Given the description of an element on the screen output the (x, y) to click on. 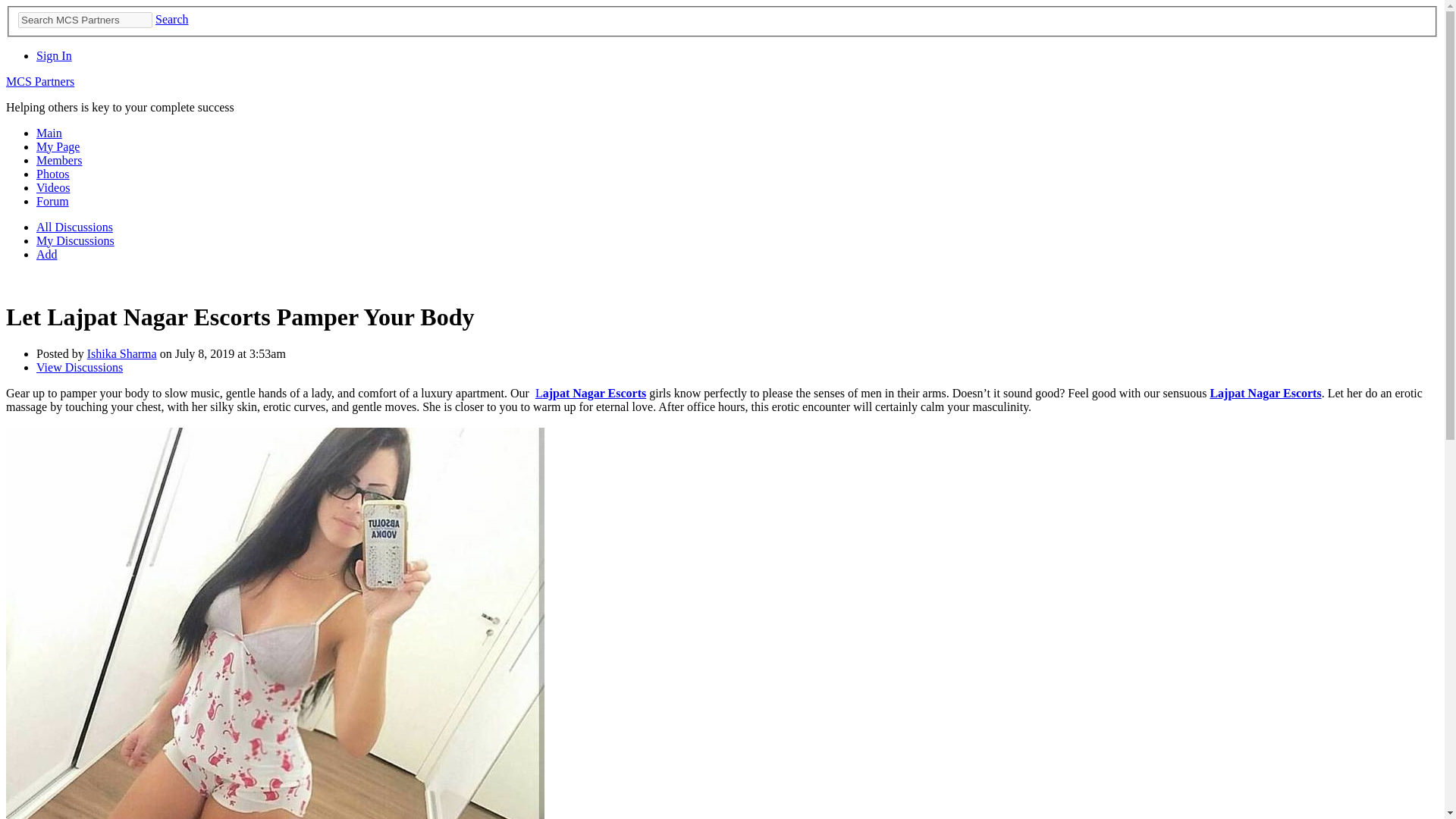
All Discussions (74, 226)
My Page (58, 146)
on July 8, 2019 at 3:53am (221, 353)
Members (58, 160)
Search MCS Partners (84, 19)
Add (47, 254)
MCS Partners (39, 81)
Ishika Sharma (122, 353)
My Discussions (75, 240)
Lajpat Nagar Escorts (590, 392)
Search (172, 19)
Videos (52, 187)
Forum (52, 201)
Photos (52, 173)
Sign In (53, 55)
